Given the description of an element on the screen output the (x, y) to click on. 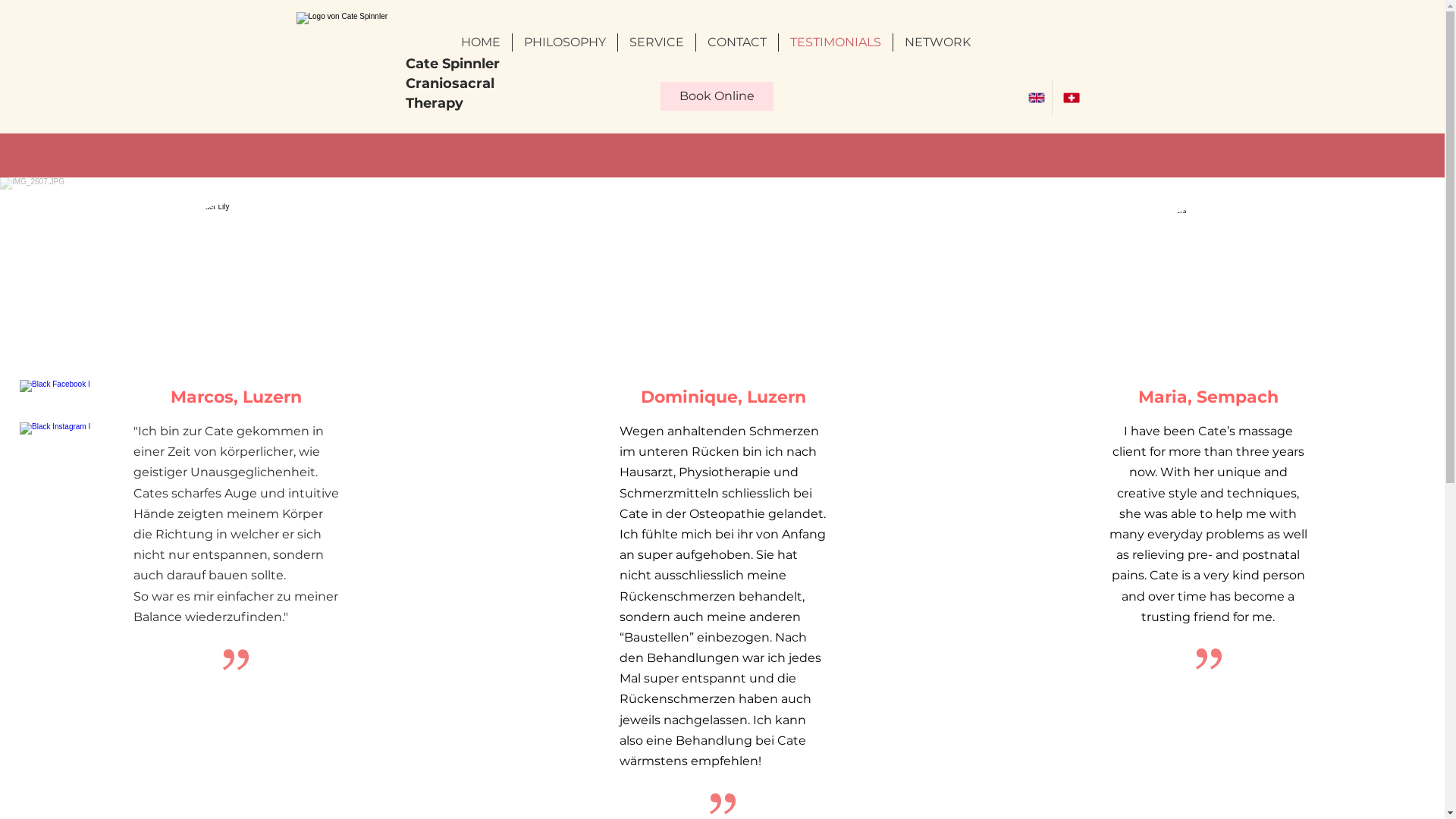
TESTIMONIALS Element type: text (835, 42)
NETWORK Element type: text (937, 42)
HOME Element type: text (480, 42)
Log In Element type: text (986, 41)
GettyImages-145680711.jpg Element type: hover (1207, 281)
Log Element type: hover (349, 66)
PHILOSOPHY Element type: text (564, 42)
GettyImages-535587703.jpg Element type: hover (723, 278)
SERVICE Element type: text (656, 42)
Book Online Element type: text (715, 95)
GettyImages-124893619.jpg Element type: hover (235, 278)
Cate Spinnler Element type: text (451, 63)
CONTACT Element type: text (737, 42)
